Given the description of an element on the screen output the (x, y) to click on. 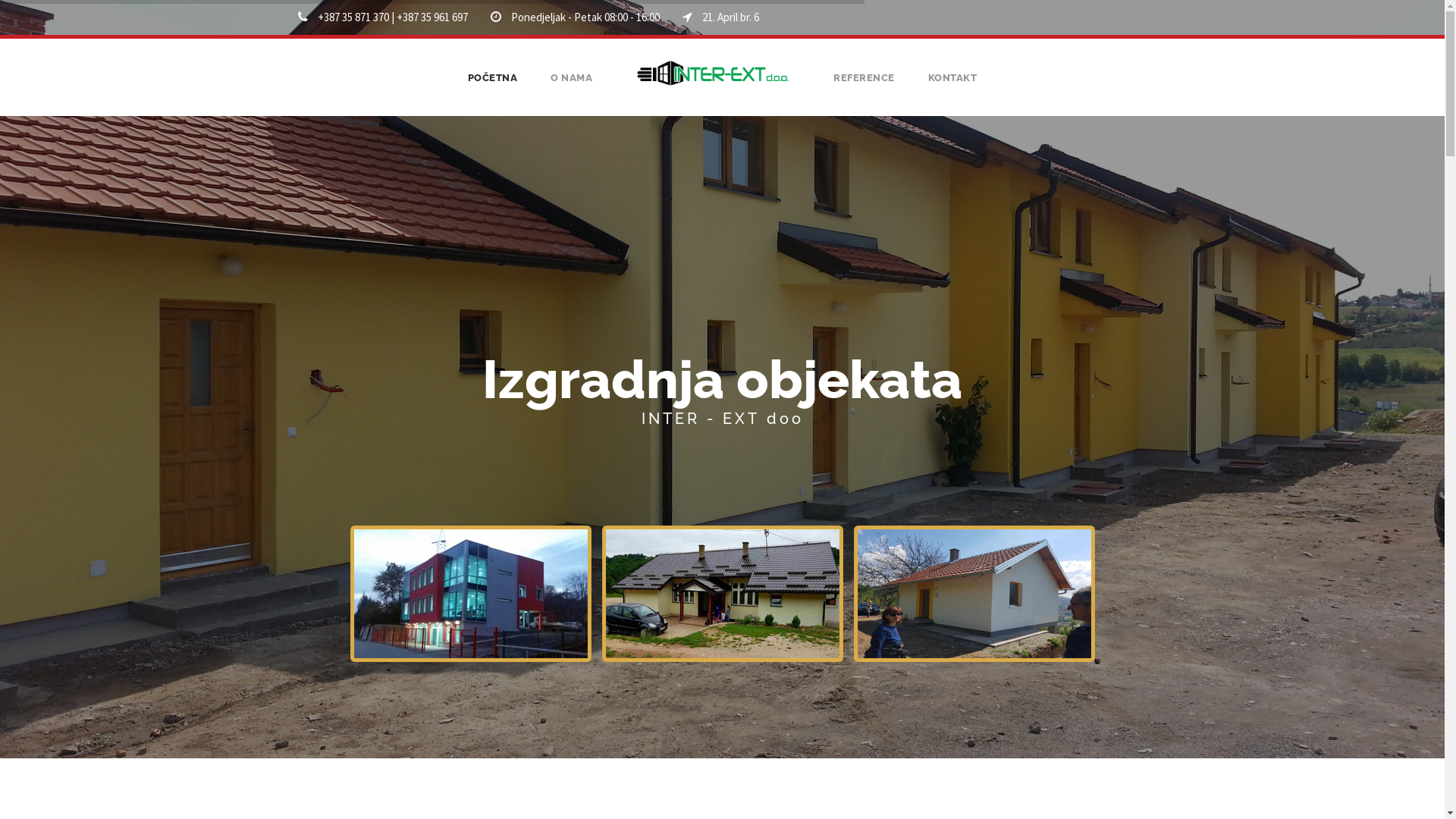
REFERENCE Element type: text (863, 88)
O NAMA Element type: text (571, 88)
KONTAKT Element type: text (952, 88)
